Given the description of an element on the screen output the (x, y) to click on. 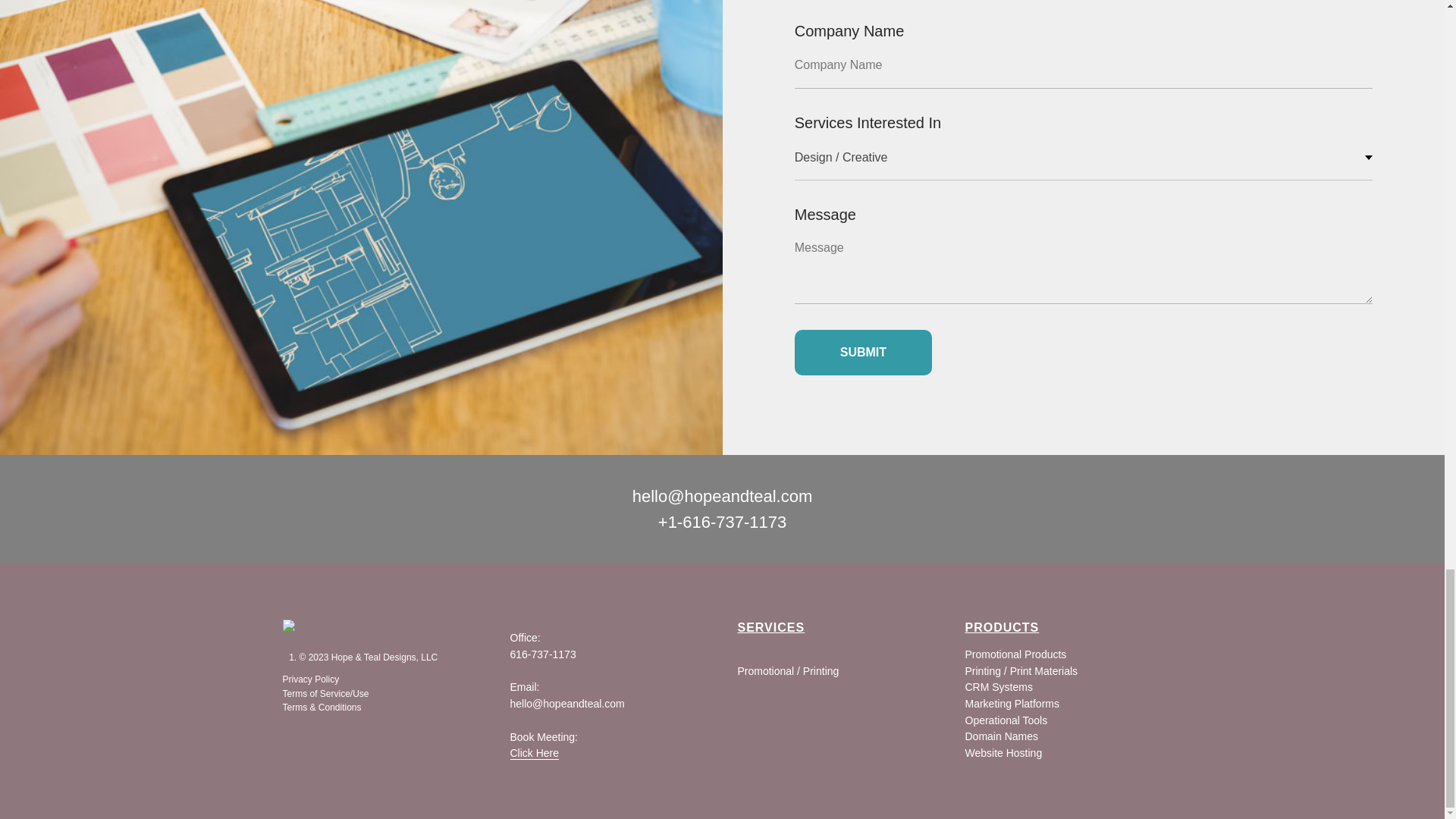
Click Here (534, 753)
Privacy Policy (310, 679)
SUBMIT (862, 352)
